Given the description of an element on the screen output the (x, y) to click on. 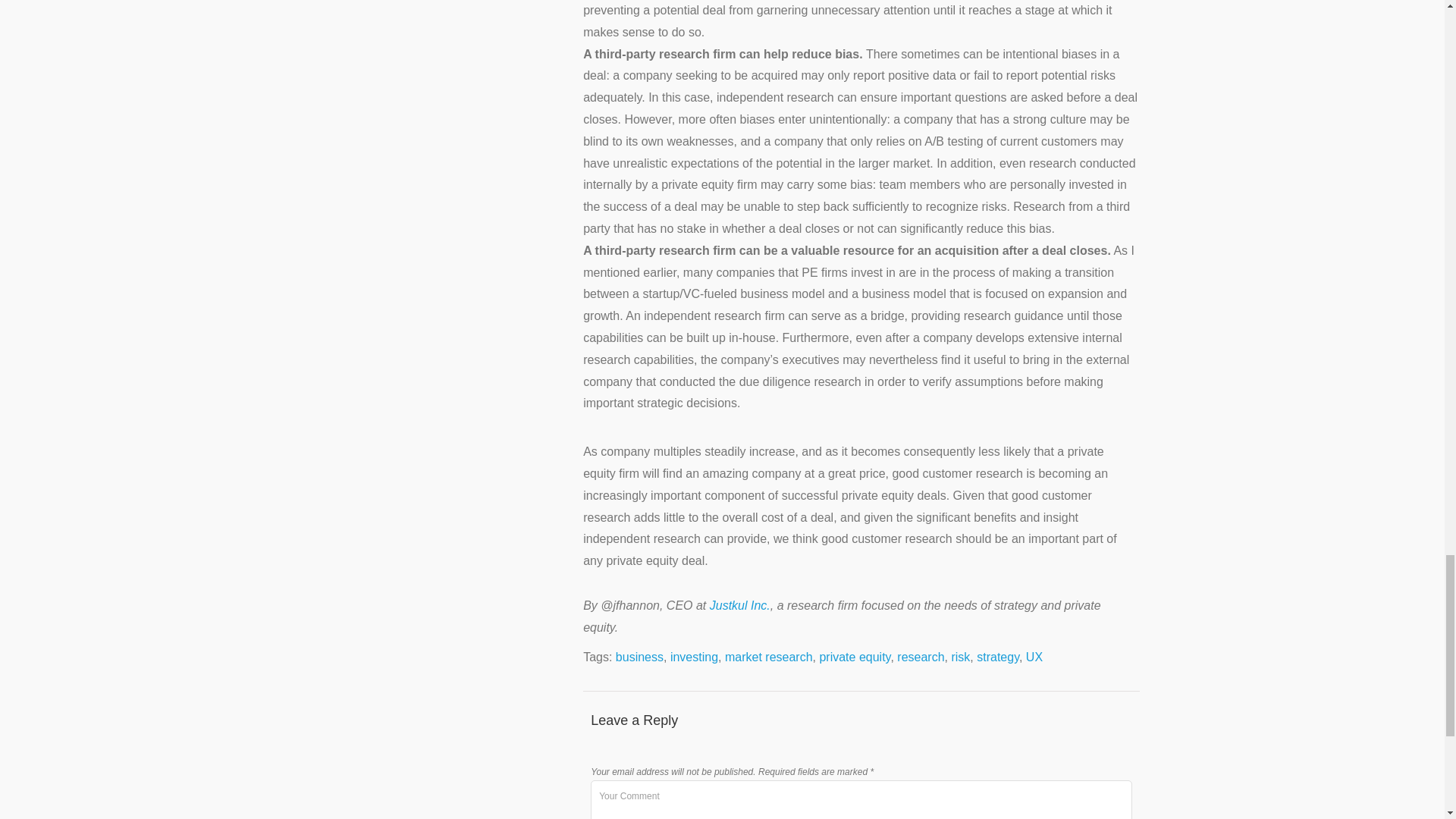
strategy (997, 656)
risk (959, 656)
UX (1034, 656)
research (919, 656)
market research (768, 656)
private equity (853, 656)
Justkul Inc. (740, 604)
business (639, 656)
investing (693, 656)
